Given the description of an element on the screen output the (x, y) to click on. 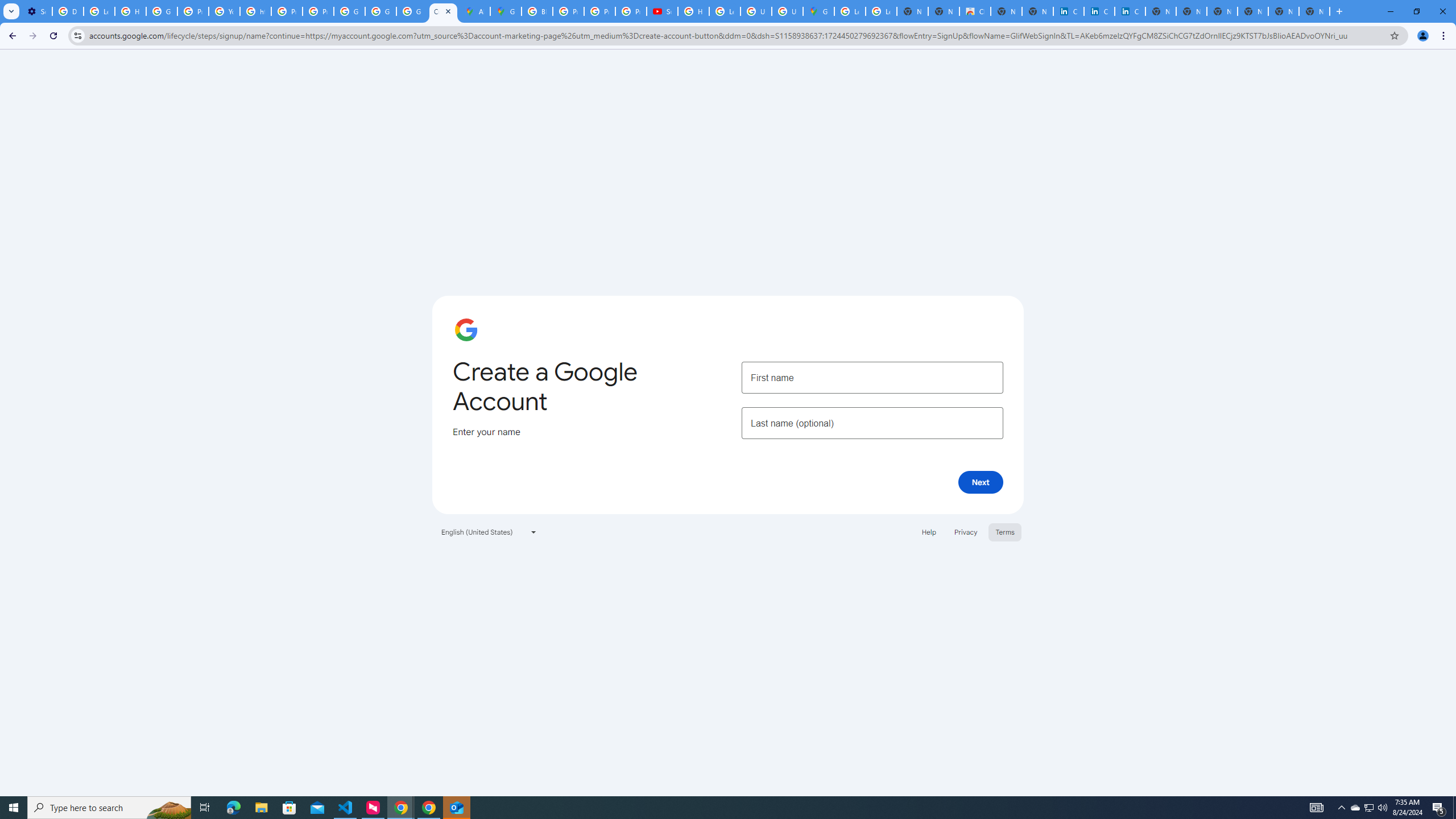
English (United States) (489, 531)
Copyright Policy (1129, 11)
Privacy Help Center - Policies Help (599, 11)
Privacy Help Center - Policies Help (192, 11)
First name (871, 376)
Privacy Help Center - Policies Help (568, 11)
